Given the description of an element on the screen output the (x, y) to click on. 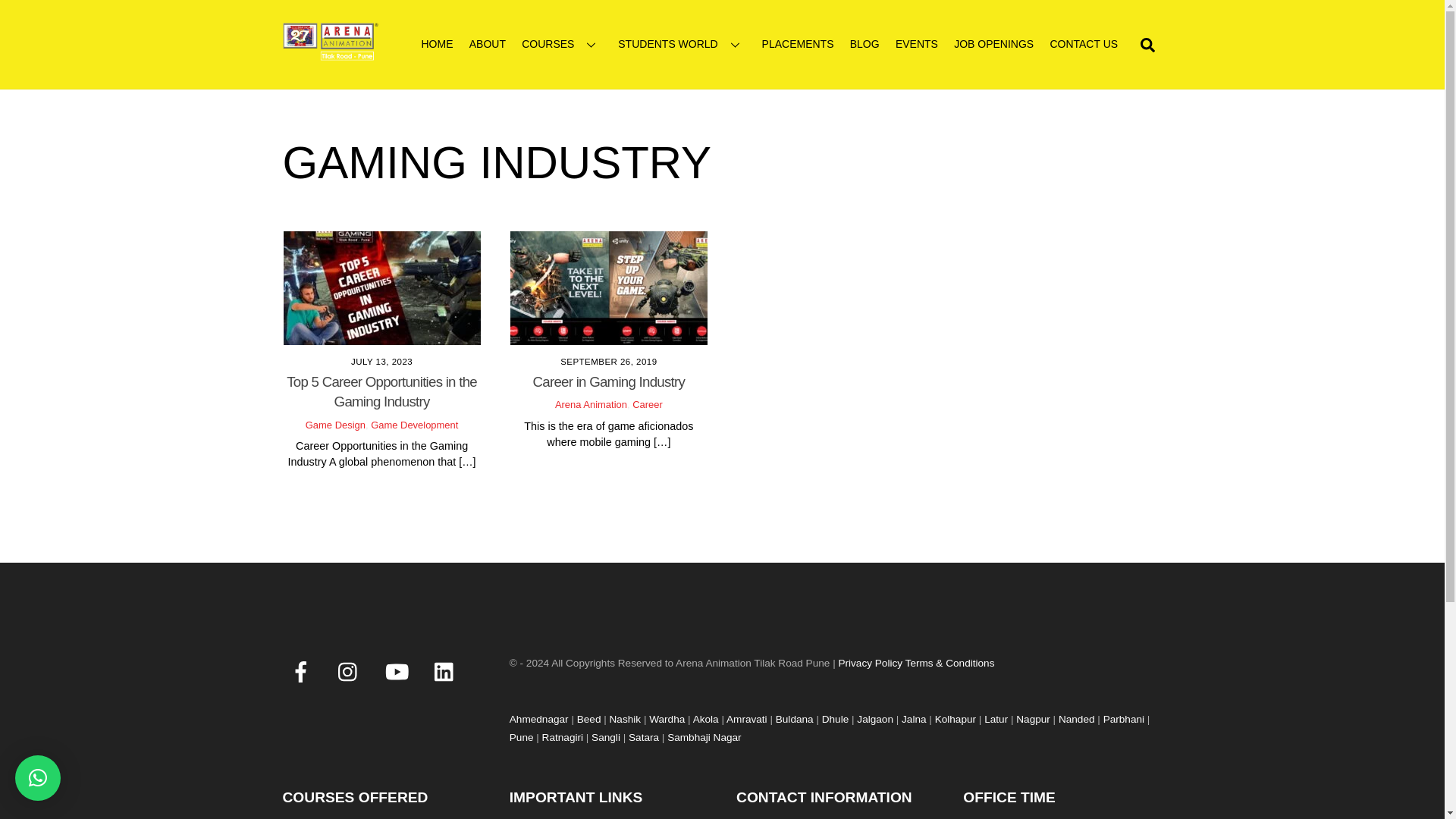
STUDENTS WORLD (681, 43)
Ahmednagar (539, 718)
COURSES (561, 43)
Beed (588, 718)
BLOG (864, 43)
PLACEMENTS (797, 43)
Career in Gaming Industry (608, 381)
JOB OPENINGS (994, 43)
CONTACT US (1083, 43)
ABOUT (487, 43)
